Given the description of an element on the screen output the (x, y) to click on. 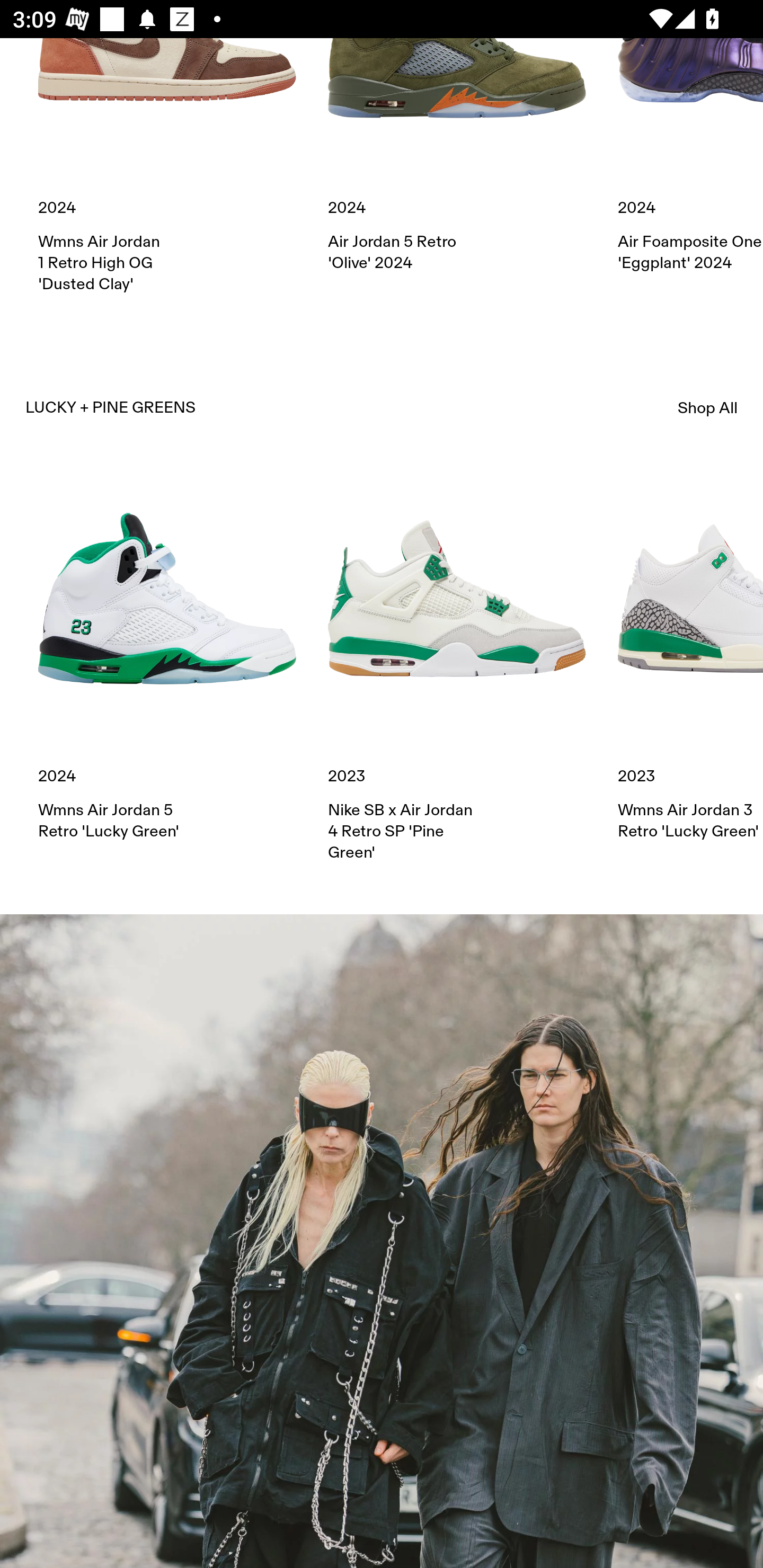
2024 Wmns Air Jordan 1 Retro High OG 'Dusted Clay' (167, 165)
2024 Air Jordan 5 Retro 'Olive' 2024 (456, 155)
2024 Air Foamposite One 'Eggplant' 2024 (690, 155)
Shop All (707, 407)
2024 Wmns Air Jordan 5 Retro 'Lucky Green' (167, 655)
2023 Nike SB x Air Jordan 4 Retro SP 'Pine Green' (456, 665)
2023 Wmns Air Jordan 3 Retro 'Lucky Green' (690, 655)
